Given the description of an element on the screen output the (x, y) to click on. 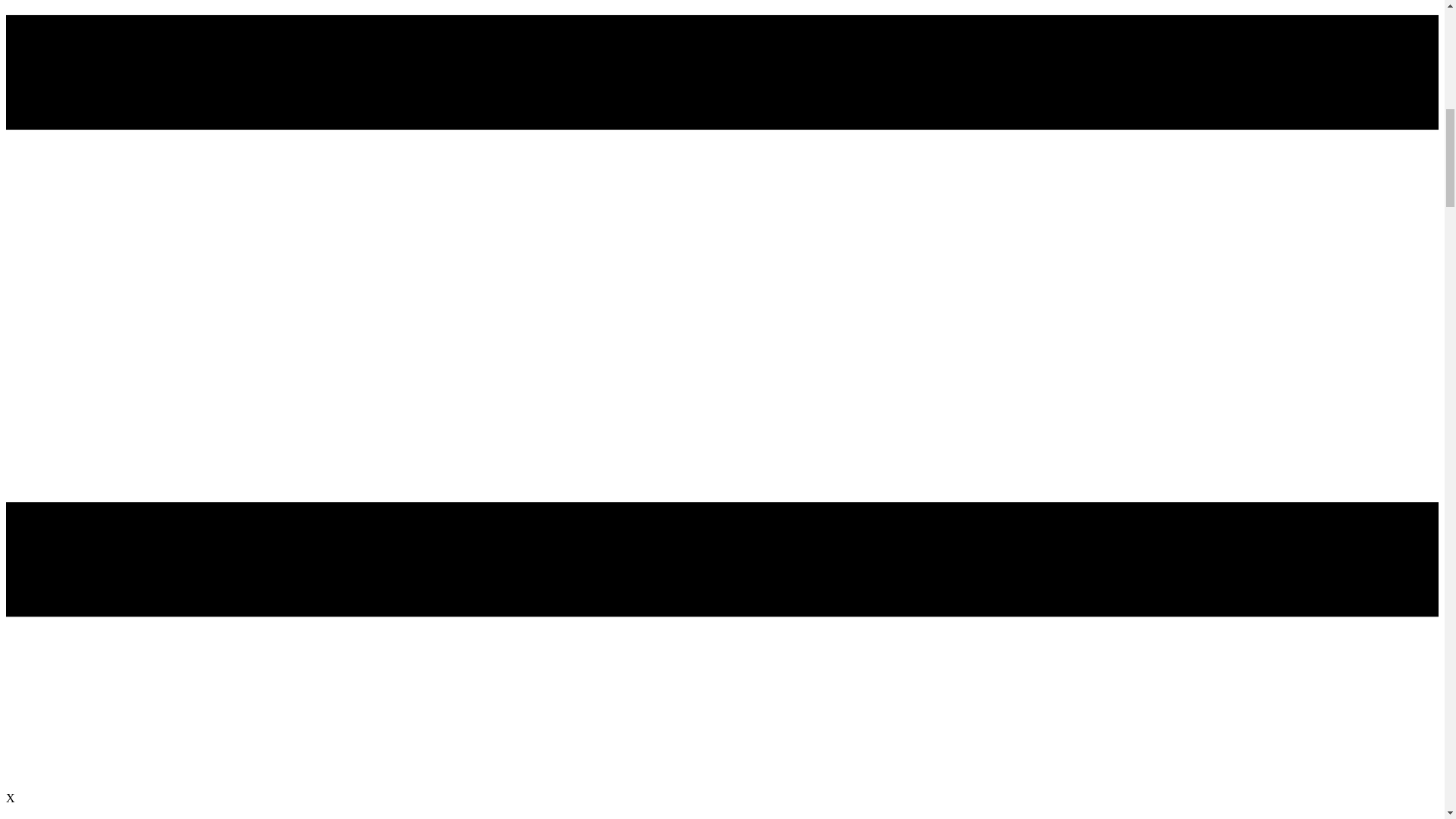
Home (50, 818)
